Given the description of an element on the screen output the (x, y) to click on. 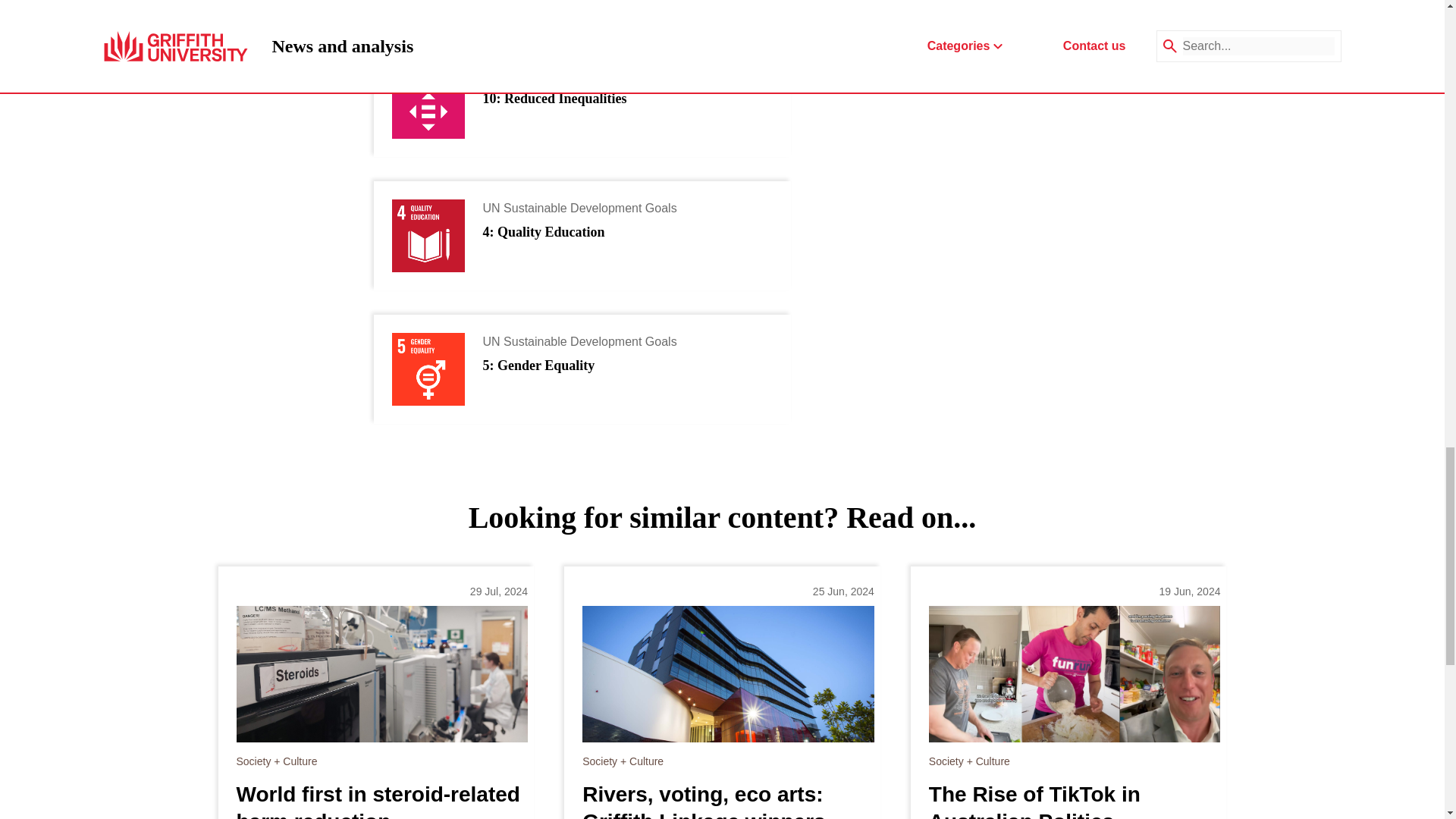
10: Reduced Inequalities (553, 99)
4: Quality Education (542, 232)
5: Gender Equality (537, 366)
